Given the description of an element on the screen output the (x, y) to click on. 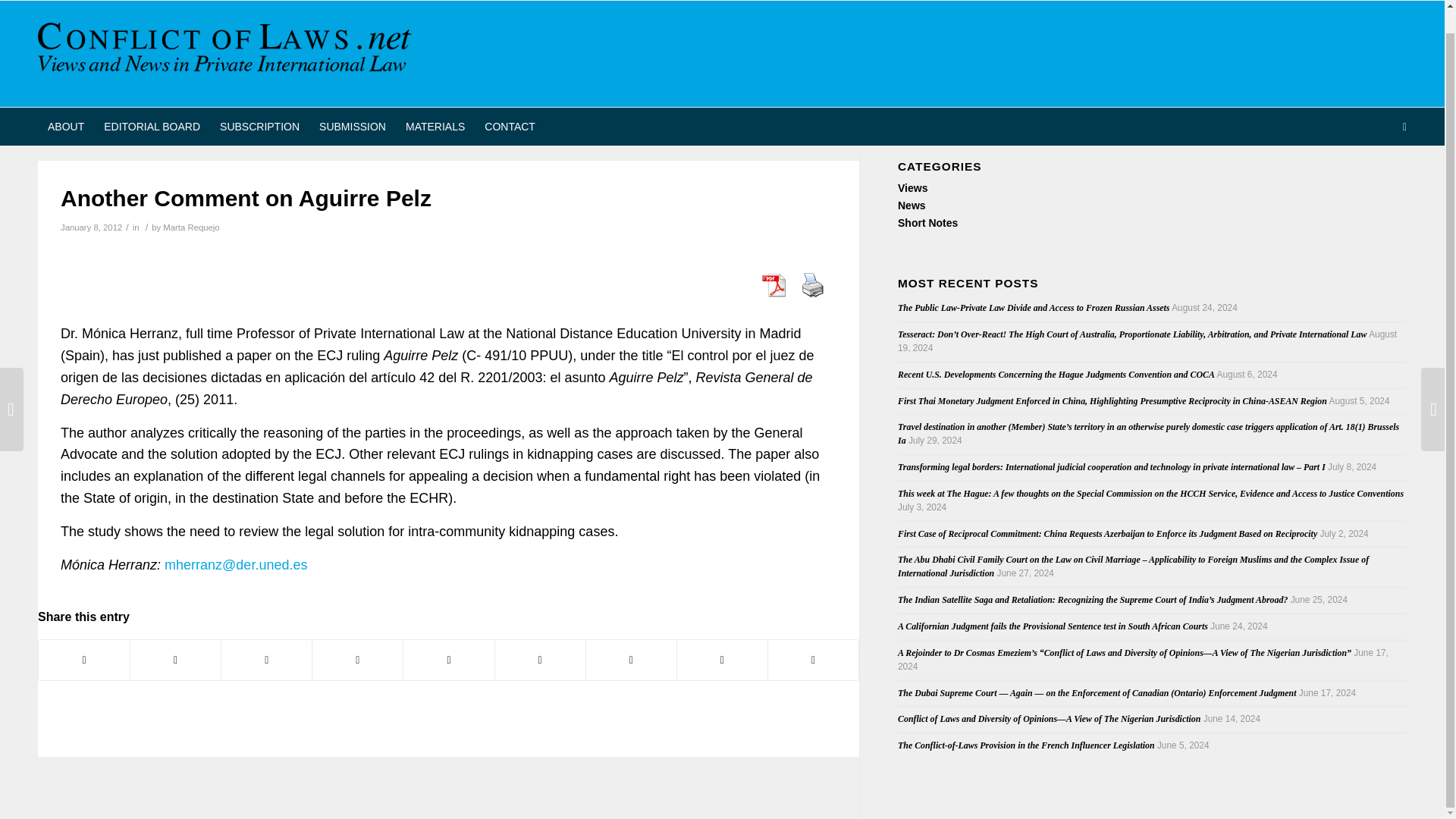
Posts by Marta Requejo (191, 226)
SUBMISSION (352, 103)
Print Content (812, 285)
CONTACT (509, 103)
Short Notes (928, 223)
Marta Requejo (191, 226)
